Given the description of an element on the screen output the (x, y) to click on. 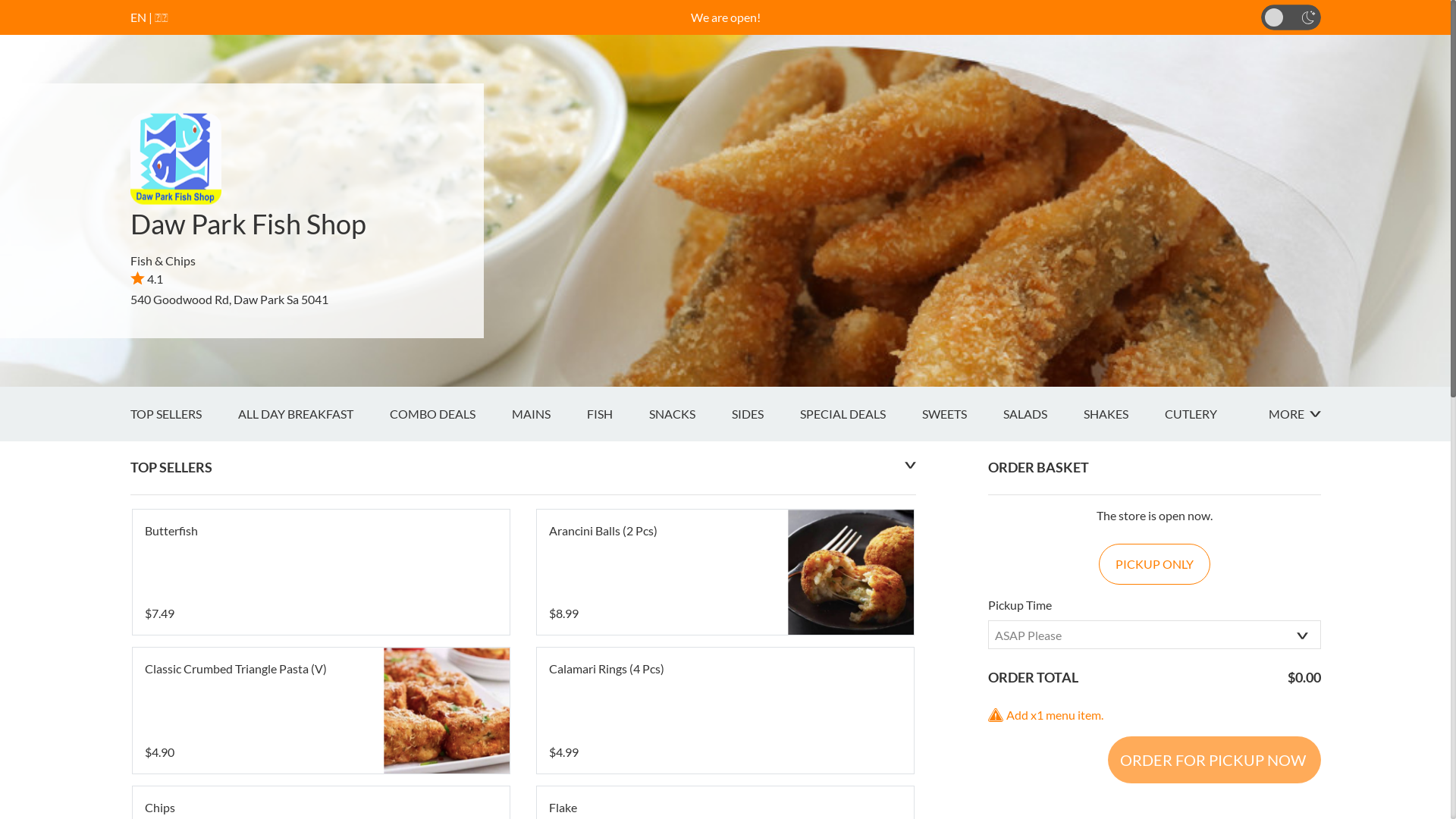
MAINS Element type: text (548, 413)
PICKUP ONLY Element type: text (1154, 563)
Classic Crumbed Triangle Pasta (V)
$4.90 Element type: text (320, 710)
Calamari Rings (4 Pcs)
$4.99 Element type: text (725, 710)
TOP SELLERS Element type: text (184, 413)
Classic Crumbed Triangle Pasta (V)
$4.90 Element type: text (320, 710)
EN Element type: text (138, 16)
Butterfish
$7.49 Element type: text (320, 572)
4.1 Element type: text (146, 278)
SHAKES Element type: text (1123, 413)
Arancini Balls (2 Pcs)
$8.99 Element type: text (725, 572)
ALL DAY BREAKFAST Element type: text (313, 413)
Arancini Balls (2 Pcs)
$8.99 Element type: text (725, 572)
MORE Element type: text (1293, 413)
FISH Element type: text (617, 413)
SPECIAL DEALS Element type: text (860, 413)
ORDER FOR PICKUP NOW  Element type: text (1213, 759)
SALADS Element type: text (1042, 413)
SWEETS Element type: text (962, 413)
Calamari Rings (4 Pcs)
$4.99 Element type: text (725, 710)
Butterfish
$7.49 Element type: text (320, 572)
CUTLERY Element type: text (1208, 413)
Daw Park Fish Shop Element type: text (248, 223)
SIDES Element type: text (765, 413)
SNACKS Element type: text (690, 413)
COMBO DEALS Element type: text (450, 413)
